Given the description of an element on the screen output the (x, y) to click on. 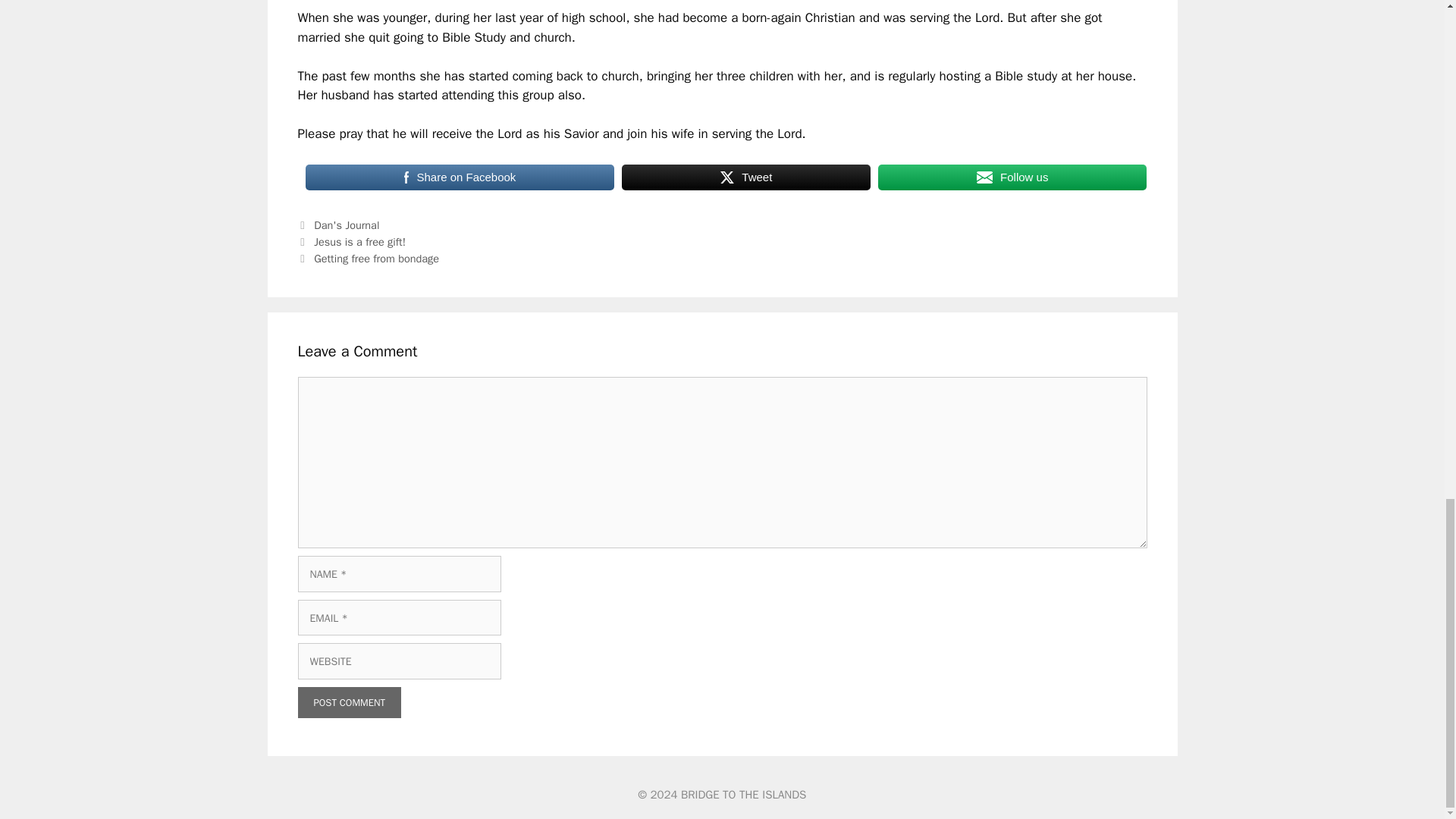
Dan's Journal (346, 224)
Next (368, 258)
Previous (351, 241)
Post Comment (349, 703)
Share on Facebook (459, 176)
Jesus is a free gift! (360, 241)
Follow us (1012, 176)
Tweet (745, 176)
Post Comment (349, 703)
Getting free from bondage (376, 258)
